Given the description of an element on the screen output the (x, y) to click on. 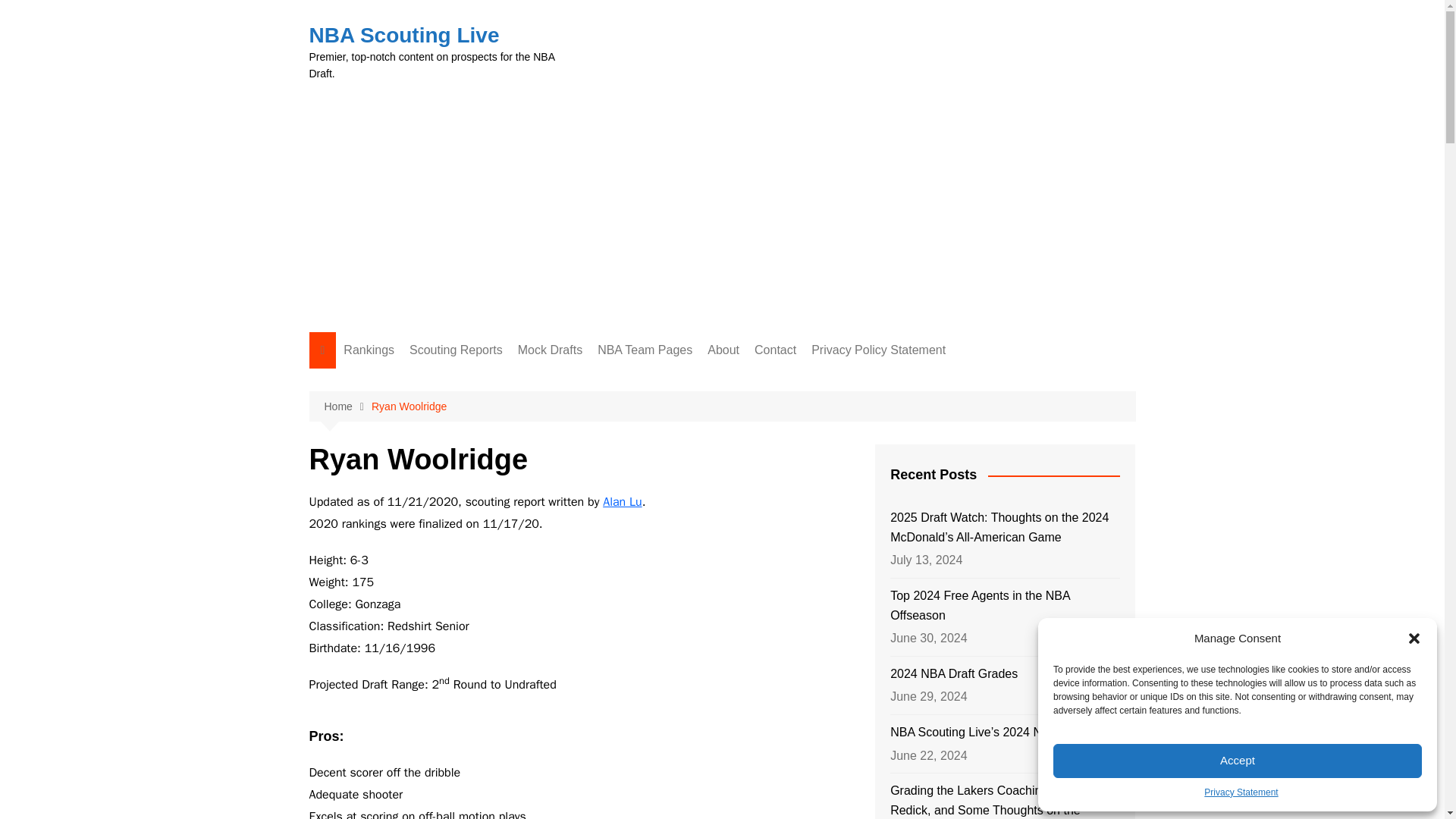
Accept (1237, 760)
2023 Scouting Reports (485, 430)
2025 Scouting Reports (485, 405)
2022 Top 100 Prospect Rankings (419, 463)
2018 Top 100 Prospect Rankings (419, 614)
2020 Top 100 Prospect Rankings (419, 538)
Scouting Reports (456, 350)
Our NBA Content (419, 683)
2024 NBA Mock Draft (594, 380)
2021 Top 100 Prospect Rankings (419, 501)
2020 Scouting Reports (485, 505)
2024 Scouting Reports (485, 380)
2024 Top 100 Prospect Rankings (419, 387)
Privacy Statement (1241, 792)
2019 Scouting Reports (485, 530)
